Given the description of an element on the screen output the (x, y) to click on. 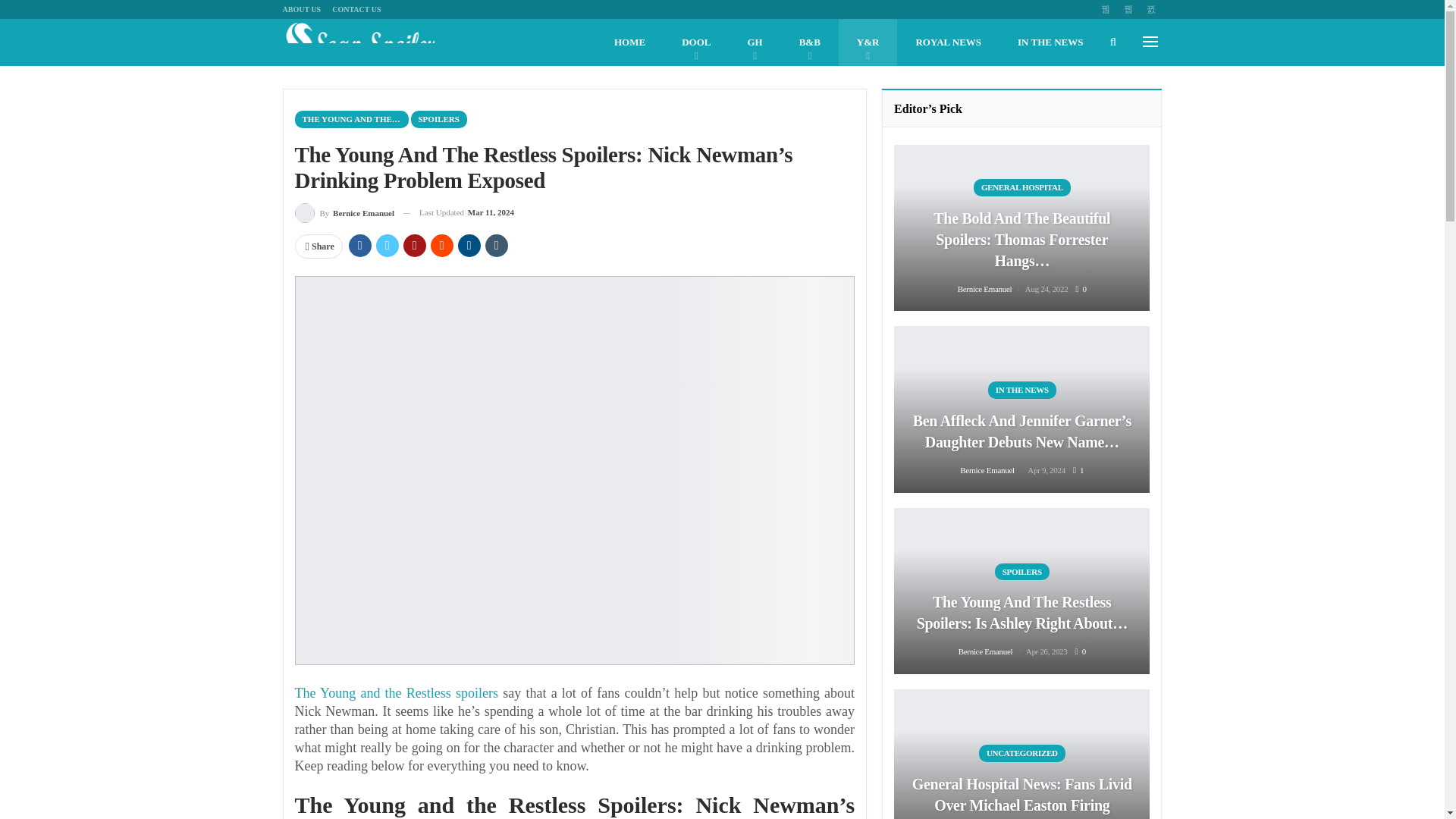
The Young and the Restless spoilers (395, 693)
SPOILERS (438, 118)
DOOL (696, 42)
CONTACT US (355, 8)
GH (754, 42)
By Bernice Emanuel (344, 212)
HOME (629, 42)
IN THE NEWS (1049, 42)
ABOUT US (301, 8)
THE YOUNG AND THE RESTLESS (350, 118)
ROYAL NEWS (947, 42)
Browse Author Articles (344, 212)
